Given the description of an element on the screen output the (x, y) to click on. 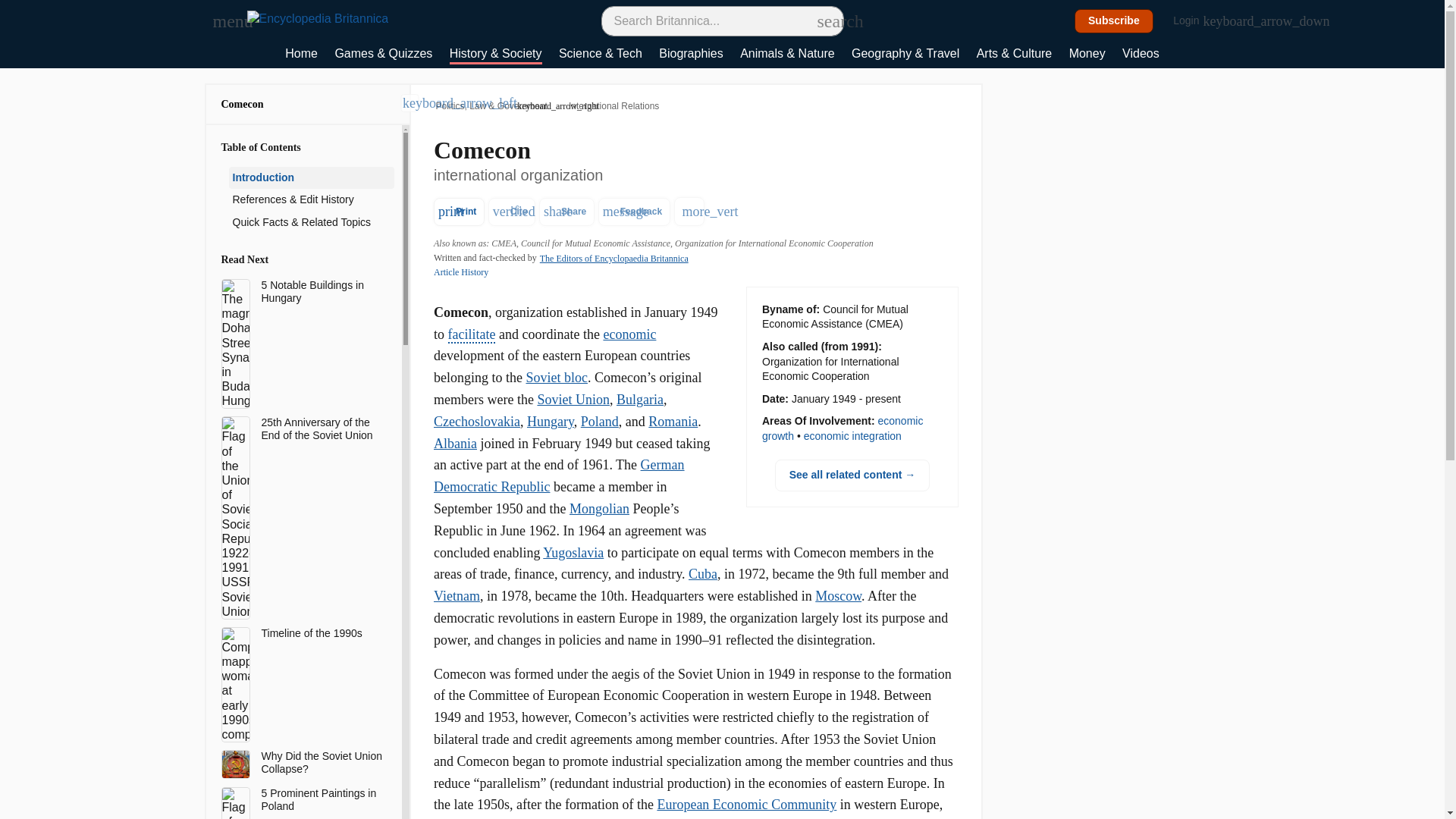
Click here to search (825, 20)
Subscribe (1114, 21)
Login (1194, 20)
